Given the description of an element on the screen output the (x, y) to click on. 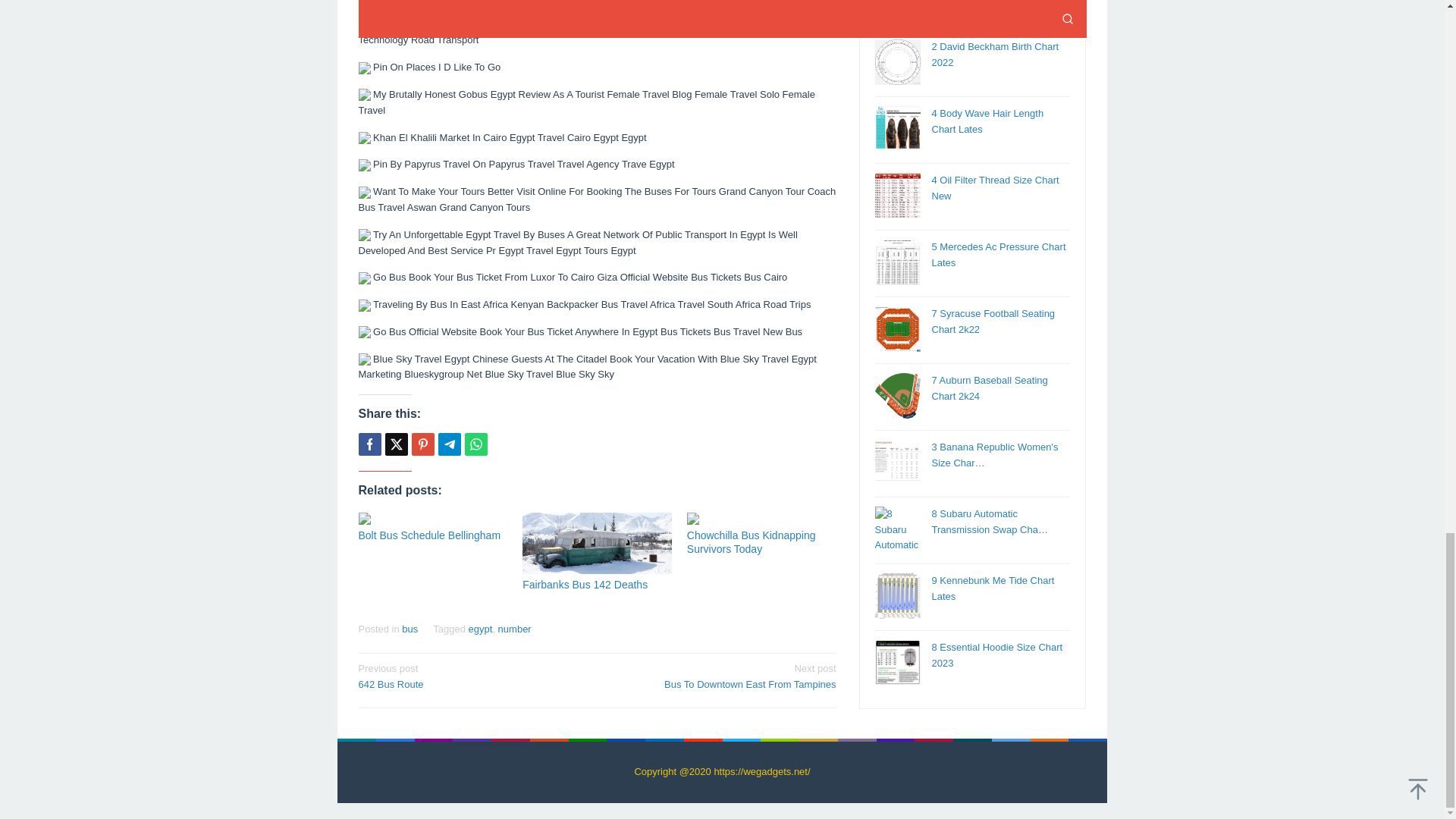
Fairbanks Bus 142 Deaths (584, 584)
Whatsapp (475, 444)
Permalink to: Bolt Bus Schedule Bellingham (432, 518)
Bolt Bus Schedule Bellingham (429, 535)
Permalink to: Fairbanks Bus 142 Deaths (596, 543)
Telegram Share (449, 444)
Share this (369, 444)
Pin this (421, 444)
bus (409, 628)
Chowchilla Bus Kidnapping Survivors Today (751, 542)
